Given the description of an element on the screen output the (x, y) to click on. 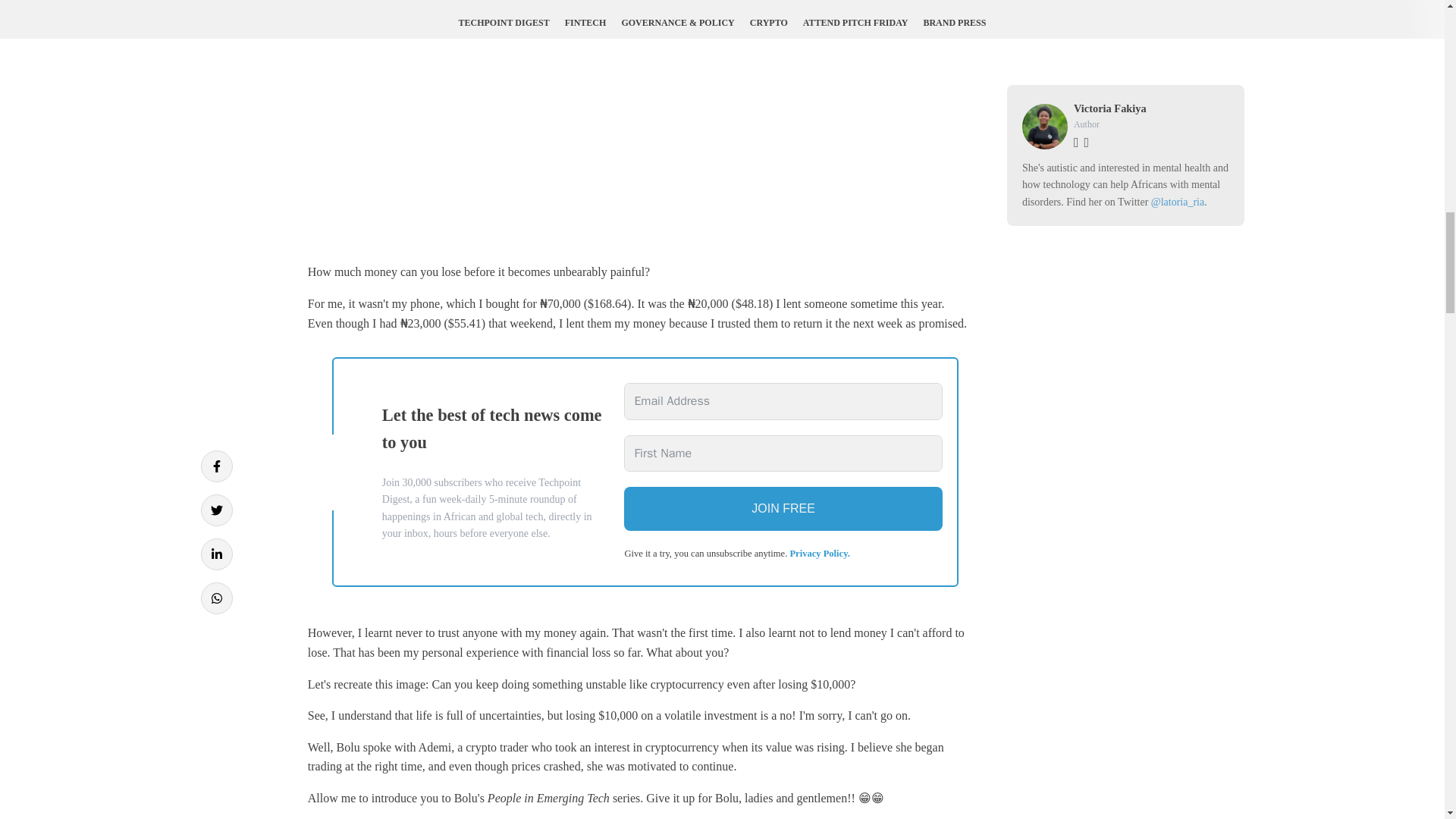
Privacy Policy. (818, 552)
JOIN FREE (783, 508)
